Given the description of an element on the screen output the (x, y) to click on. 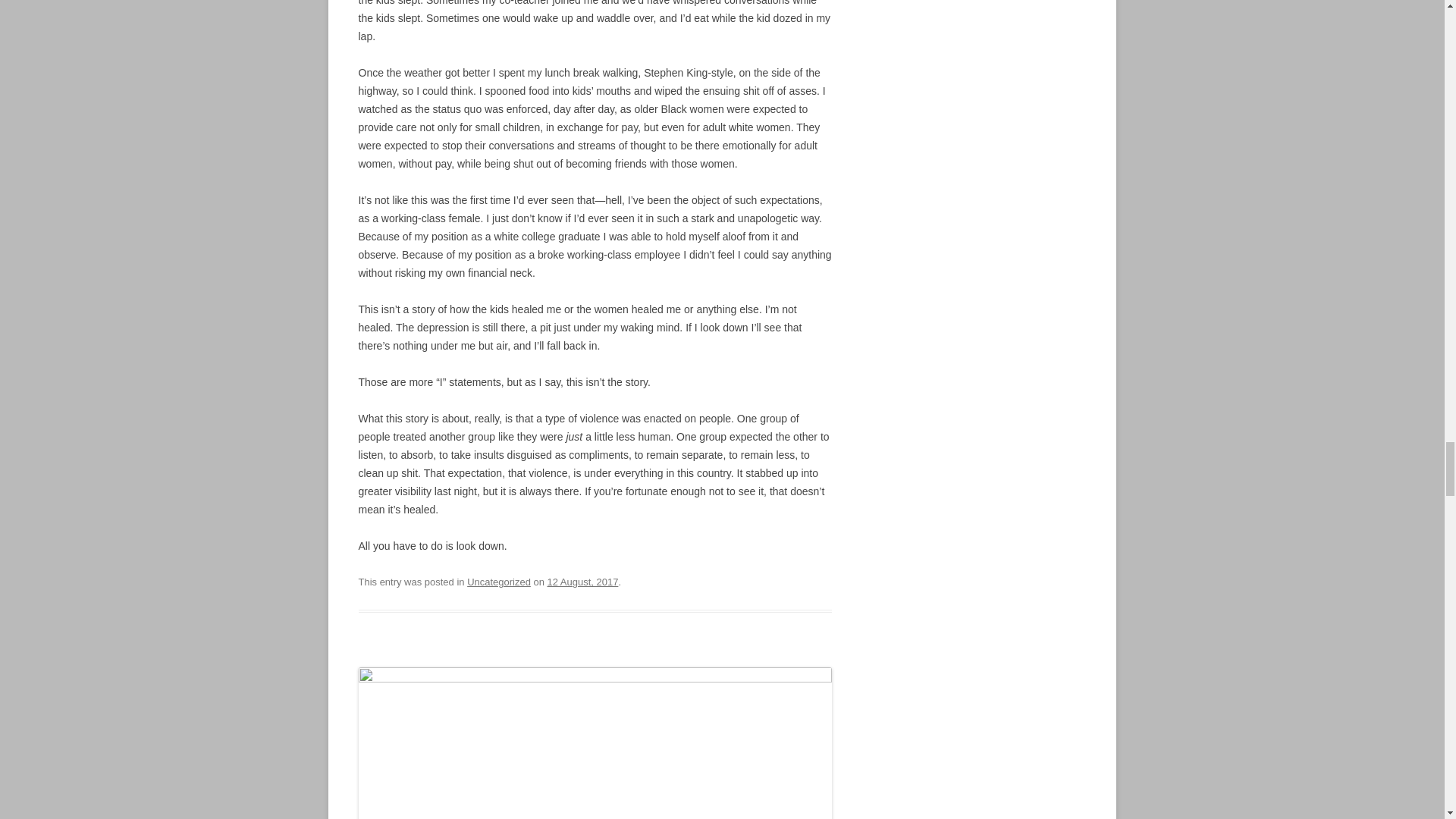
12 August, 2017 (582, 582)
Uncategorized (499, 582)
4:42 pm (582, 582)
